Given the description of an element on the screen output the (x, y) to click on. 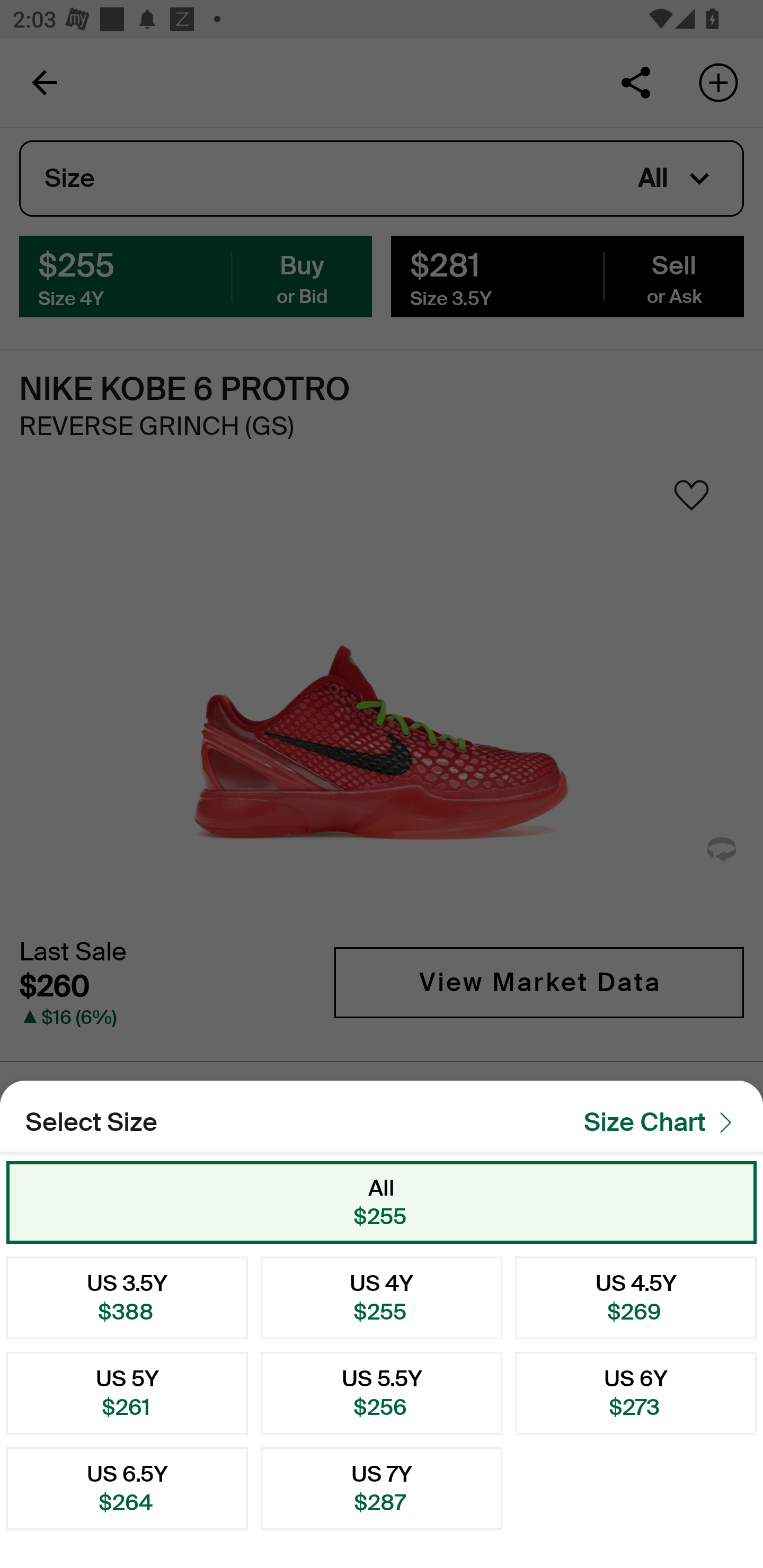
Size Chart (663, 1121)
All $255 (381, 1202)
US 3.5Y $388 (126, 1297)
US 4Y $255 (381, 1297)
US 4.5Y $269 (635, 1297)
US 5Y $261 (126, 1392)
US 5.5Y $256 (381, 1392)
US 6Y $273 (635, 1392)
US 6.5Y $264 (126, 1488)
US 7Y $287 (381, 1488)
